Given the description of an element on the screen output the (x, y) to click on. 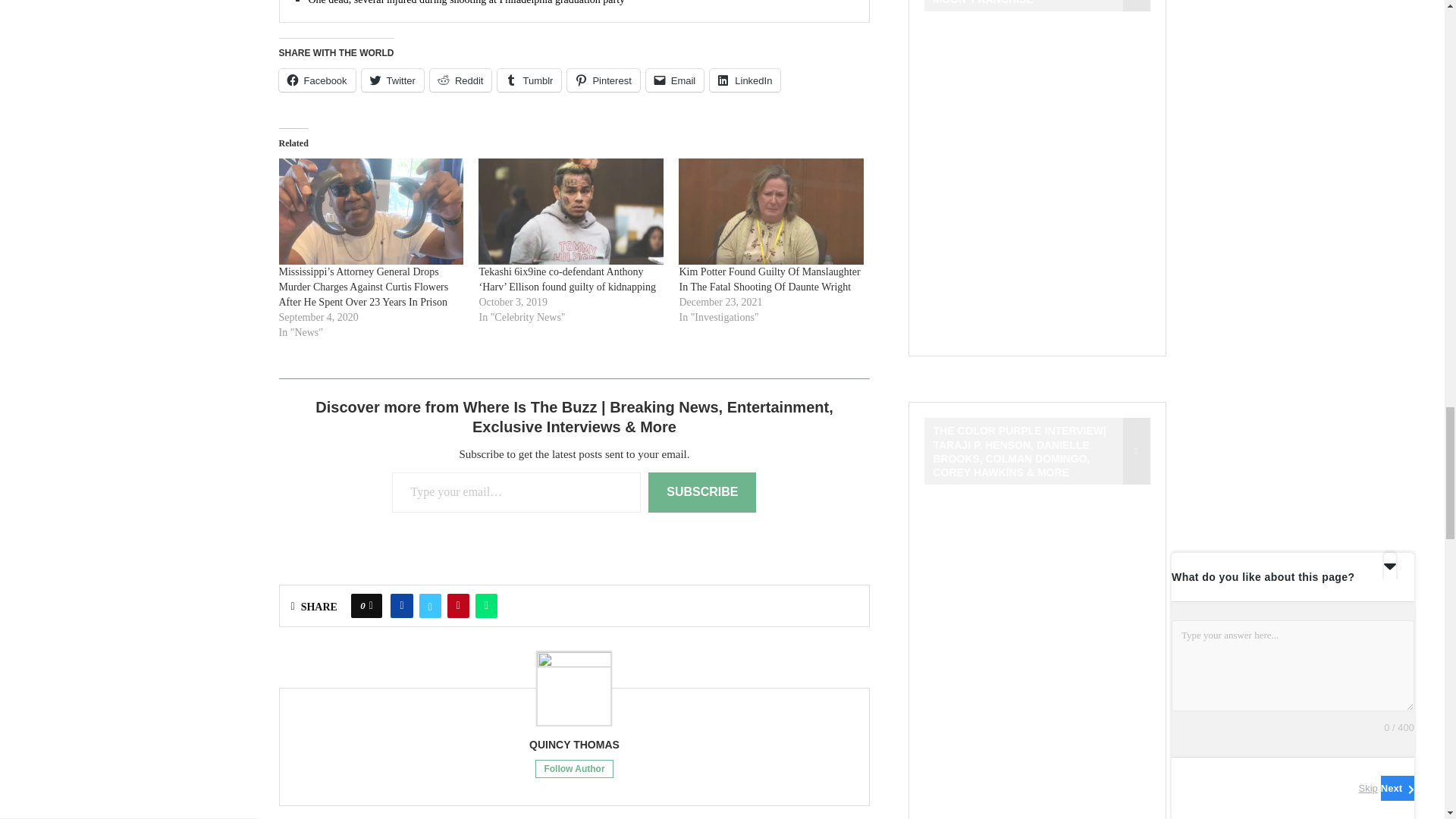
Click to share on Facebook (317, 79)
Click to share on Pinterest (603, 79)
Click to share on Reddit (460, 79)
Click to share on Tumblr (528, 79)
Click to share on Twitter (392, 79)
Click to email a link to a friend (675, 79)
